Given the description of an element on the screen output the (x, y) to click on. 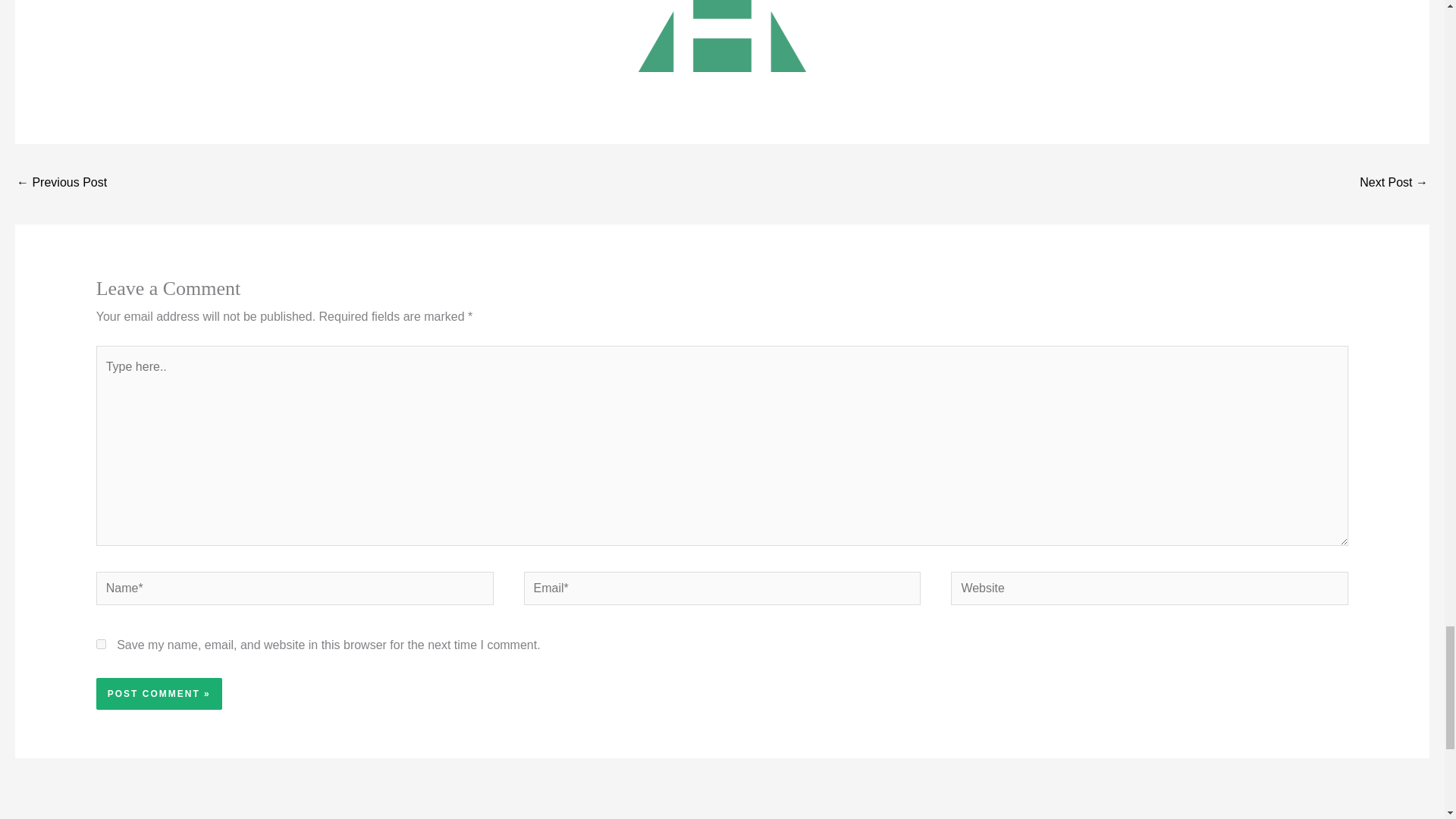
yes (101, 644)
Conscious Living through Esoteric Symbolism (61, 183)
